Given the description of an element on the screen output the (x, y) to click on. 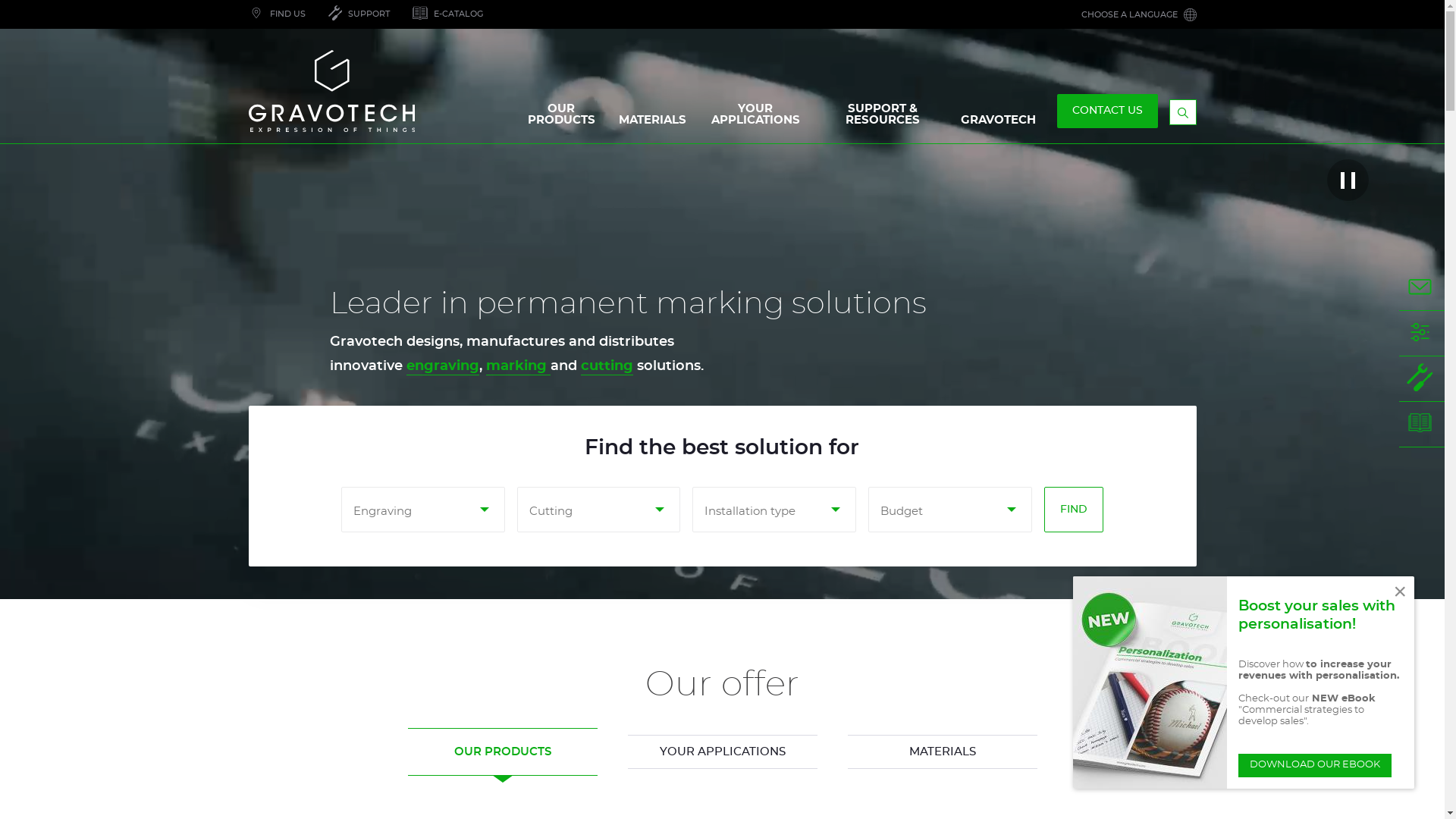
CREATED WITH LUNACY
E-CATALOG Element type: text (447, 14)
FIND YOUR SOLUTION Element type: text (1421, 333)
Upload Element type: text (28, 8)
Find Element type: text (1073, 509)
SUPPORT Element type: text (1421, 378)
Skip to main content Element type: text (0, 0)
Gravotech Element type: text (343, 90)
MATERIALS Element type: text (652, 123)
CONTACT US Element type: text (1107, 111)
GRAVOTECH Element type: text (997, 123)
SUPPORT & RESOURCES Element type: text (882, 118)
CHOOSE A LANGUAGE Element type: text (1138, 14)
MATERIALS Element type: text (942, 751)
cutting Element type: text (608, 367)
engraving Element type: text (442, 367)
DOWNLOAD OUR EBOOK Element type: text (1313, 765)
E-CATALOG Element type: text (1421, 424)
marking  Element type: text (518, 367)
CONTACT US Element type: text (1421, 287)
Play/Pause this video Element type: text (1347, 179)
YOUR APPLICATIONS Element type: text (755, 118)
OUR PRODUCTS Element type: text (560, 118)
OUR PRODUCTS Element type: text (502, 751)
YOUR APPLICATIONS Element type: text (722, 751)
Display the searchbar Element type: text (1182, 112)
